Given the description of an element on the screen output the (x, y) to click on. 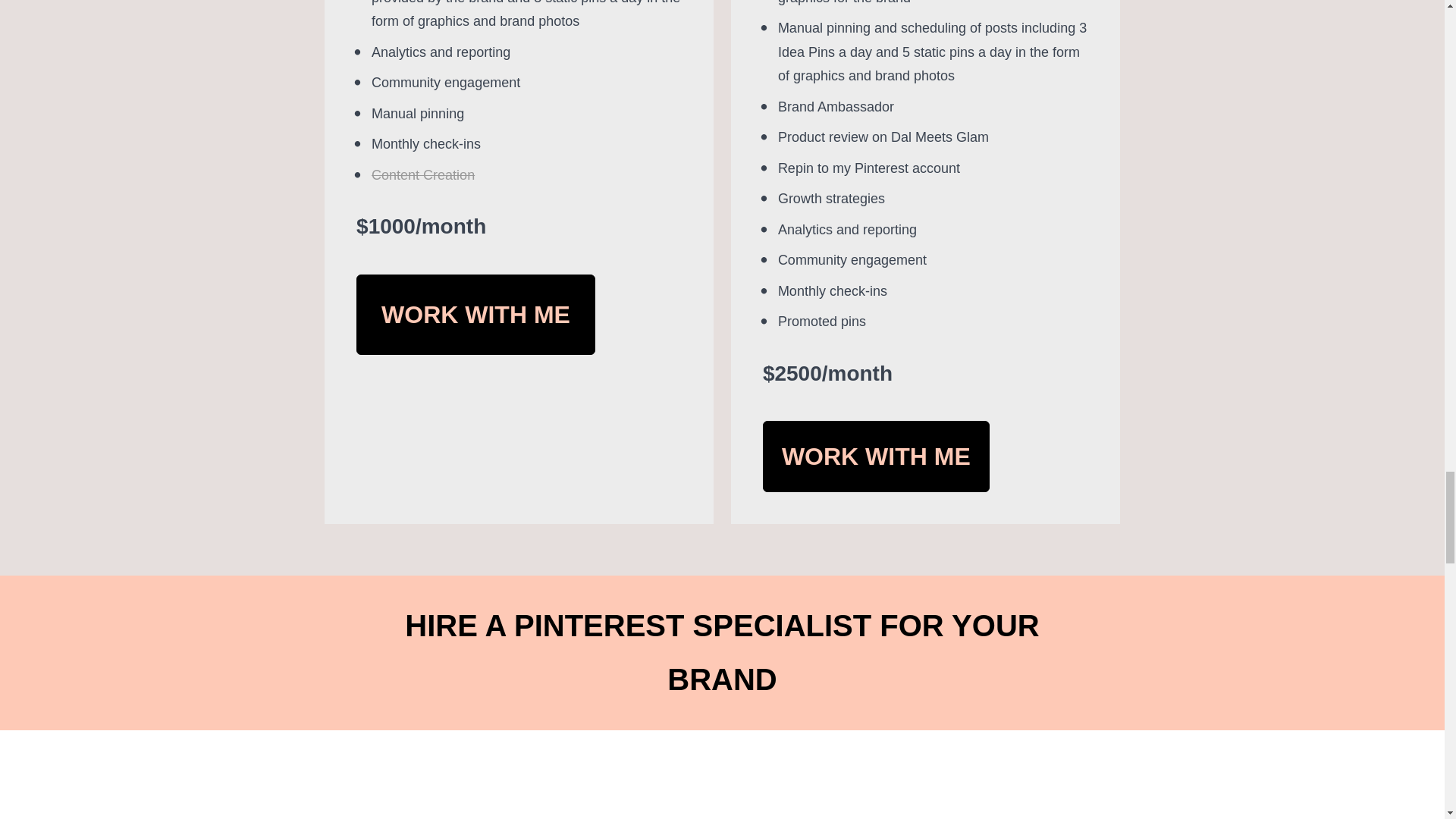
WORK WITH ME (475, 314)
WORK WITH ME (876, 456)
